Given the description of an element on the screen output the (x, y) to click on. 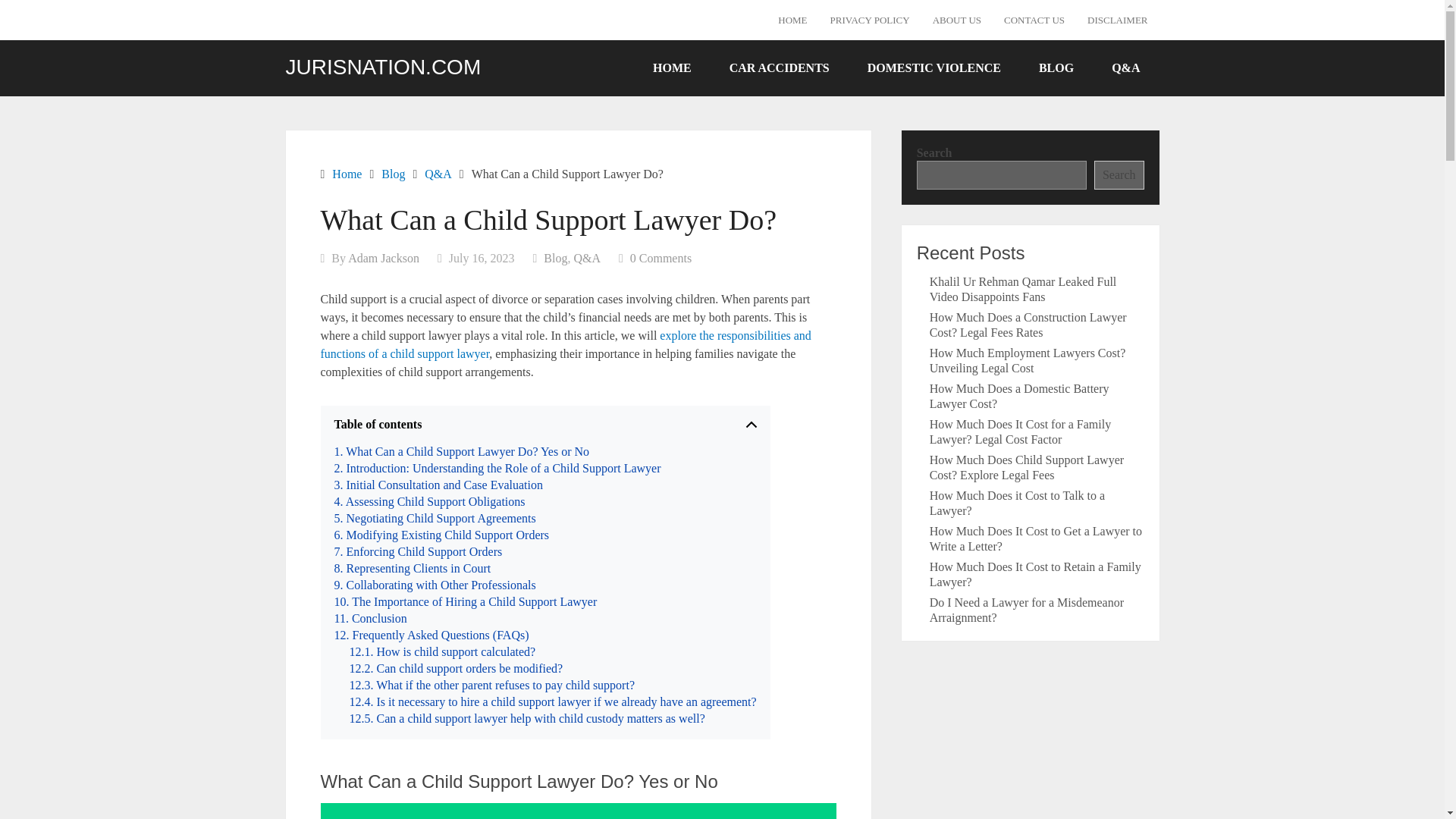
Collaborating with Other Professionals (434, 585)
Blog (555, 257)
How is child support calculated? (442, 651)
HOME (671, 67)
HOME (792, 20)
Assessing Child Support Obligations (428, 501)
Representing Clients in Court (411, 568)
Initial Consultation and Case Evaluation (438, 484)
Collaborating with Other Professionals (434, 585)
JURISNATION.COM (382, 66)
